Given the description of an element on the screen output the (x, y) to click on. 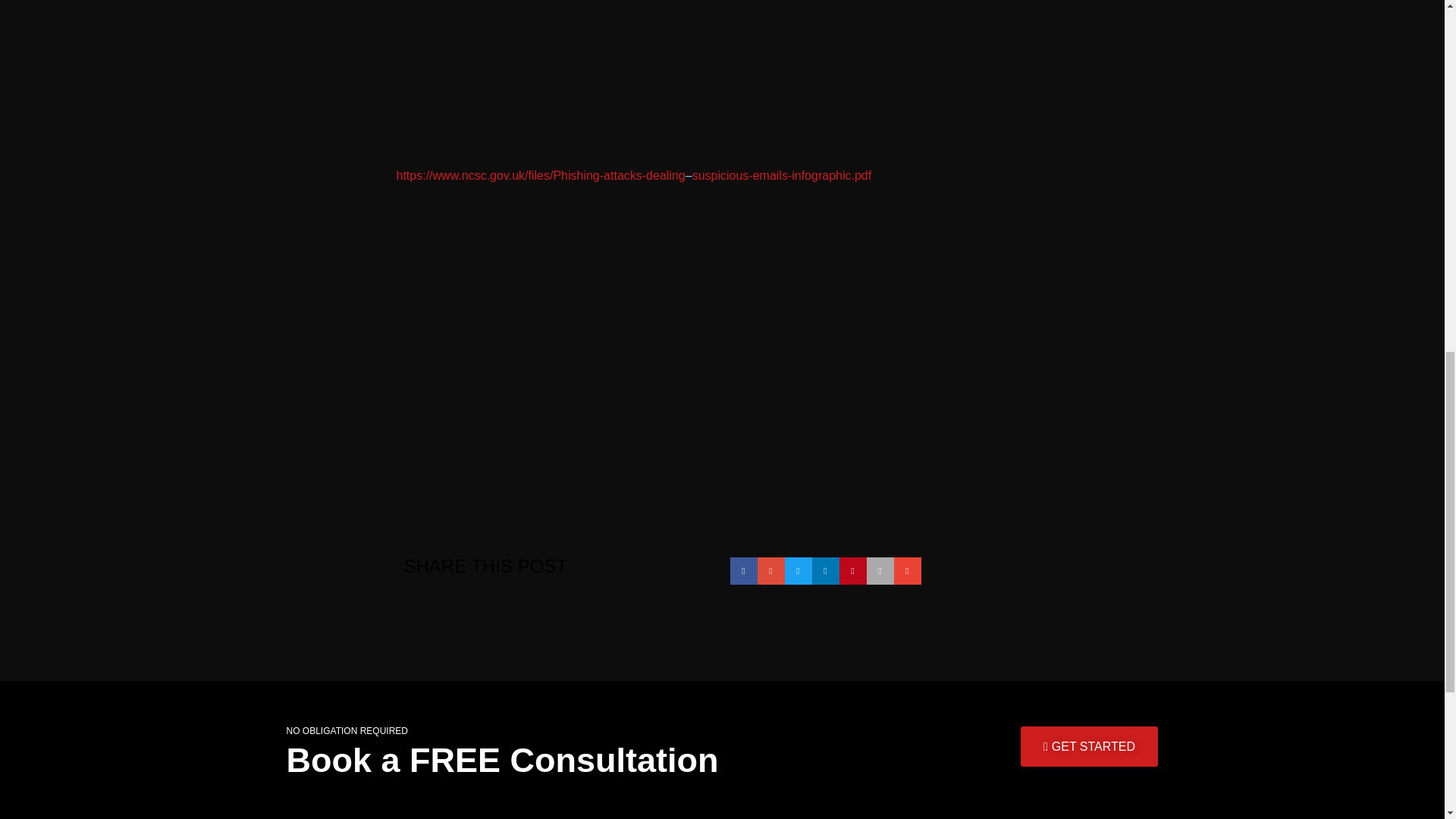
GET STARTED (1088, 746)
